Given the description of an element on the screen output the (x, y) to click on. 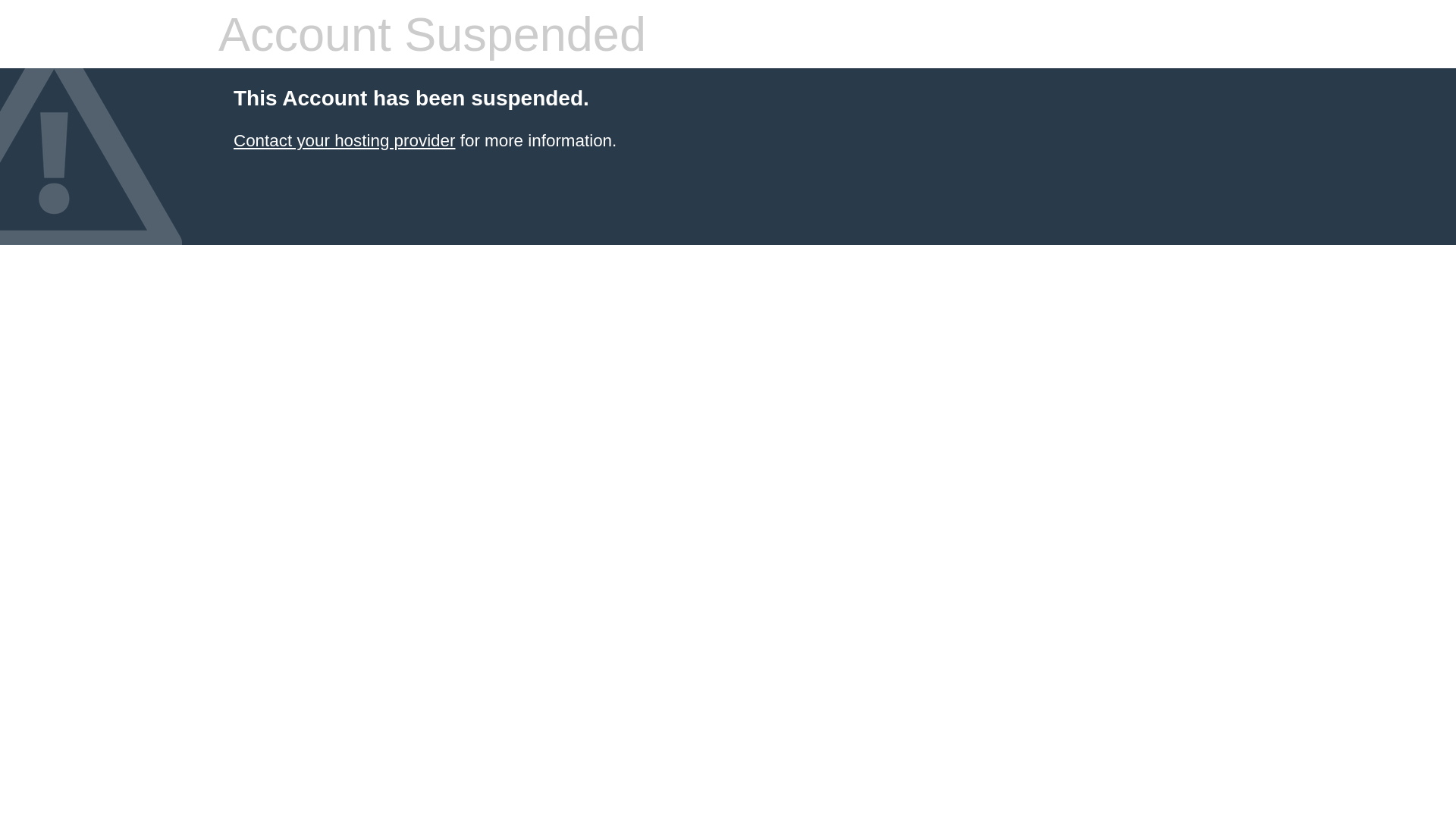
Contact your hosting provider Element type: text (344, 140)
